Given the description of an element on the screen output the (x, y) to click on. 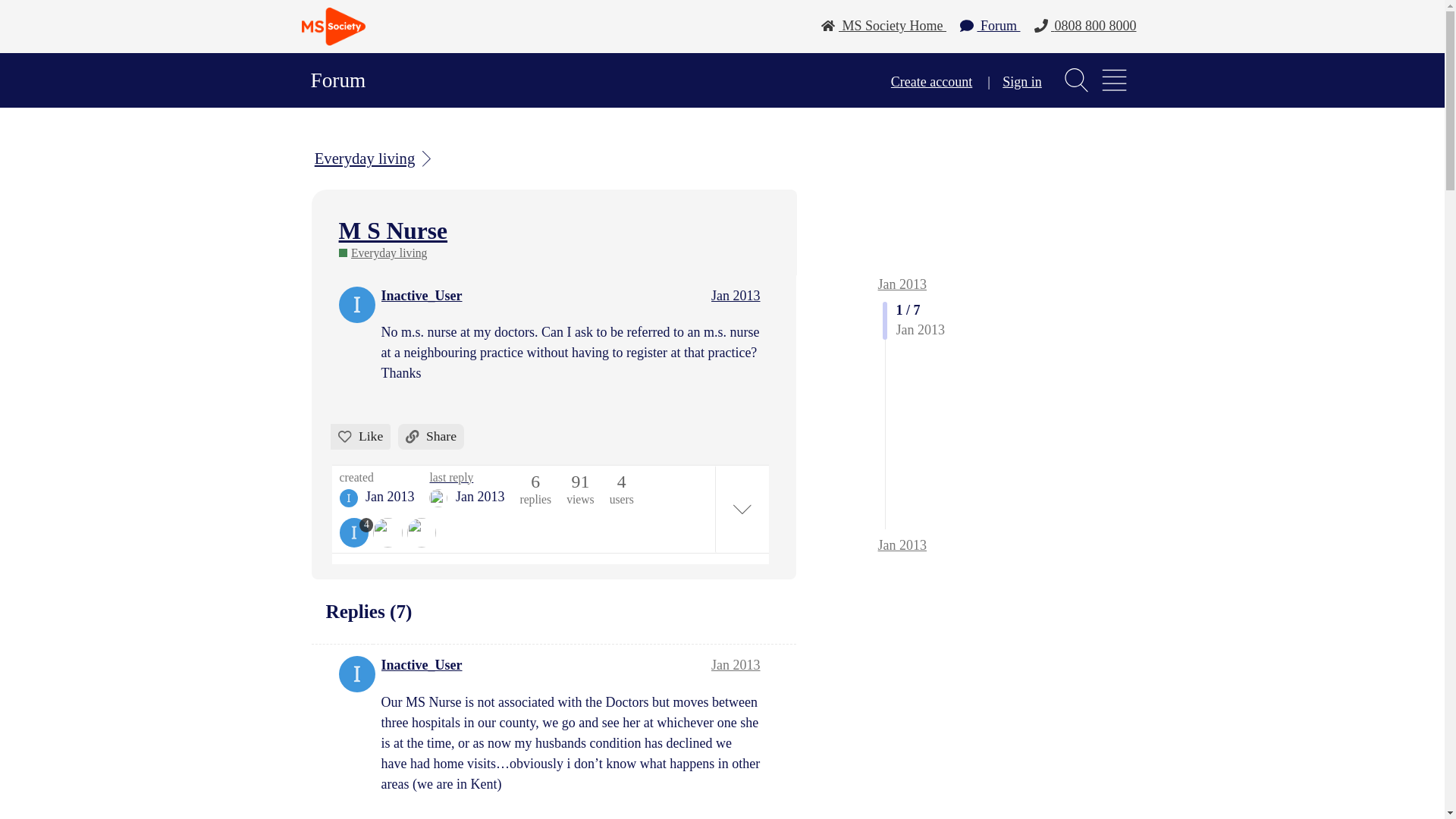
MS Society Home (883, 25)
Create account (930, 81)
30 Jan 2013 23:47 (480, 496)
Forum (990, 25)
AnnieB (437, 497)
Sign in (1021, 81)
Jan 2013 (735, 664)
Jan 2013 (735, 295)
share a link to this post (430, 436)
Everyday living (375, 158)
0808 800 8000 (1084, 25)
Forum (338, 80)
Jan 2013 (902, 283)
last reply (466, 477)
30 Jan 2013 07:40 (389, 496)
